Given the description of an element on the screen output the (x, y) to click on. 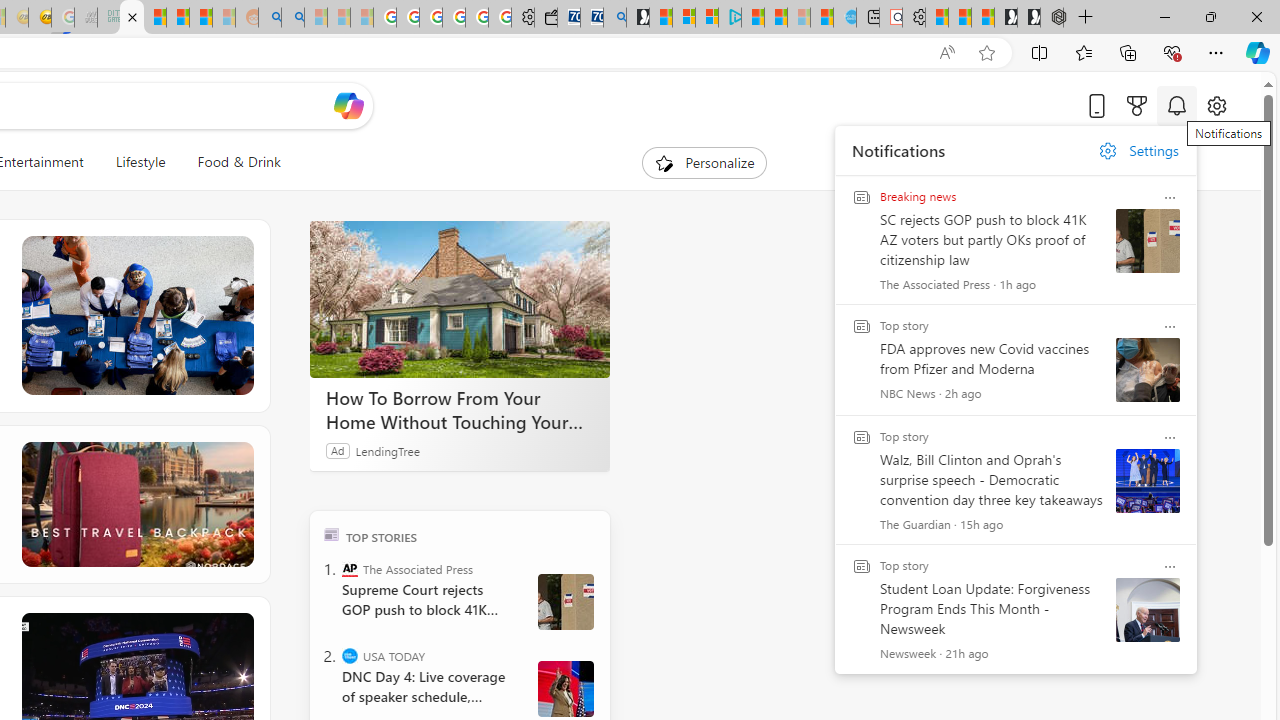
Card Action (1169, 566)
Navy Quest (86, 17)
Cheap Car Rentals - Save70.com (591, 17)
LendingTree (387, 450)
MSNBC - MSN (132, 17)
